Given the description of an element on the screen output the (x, y) to click on. 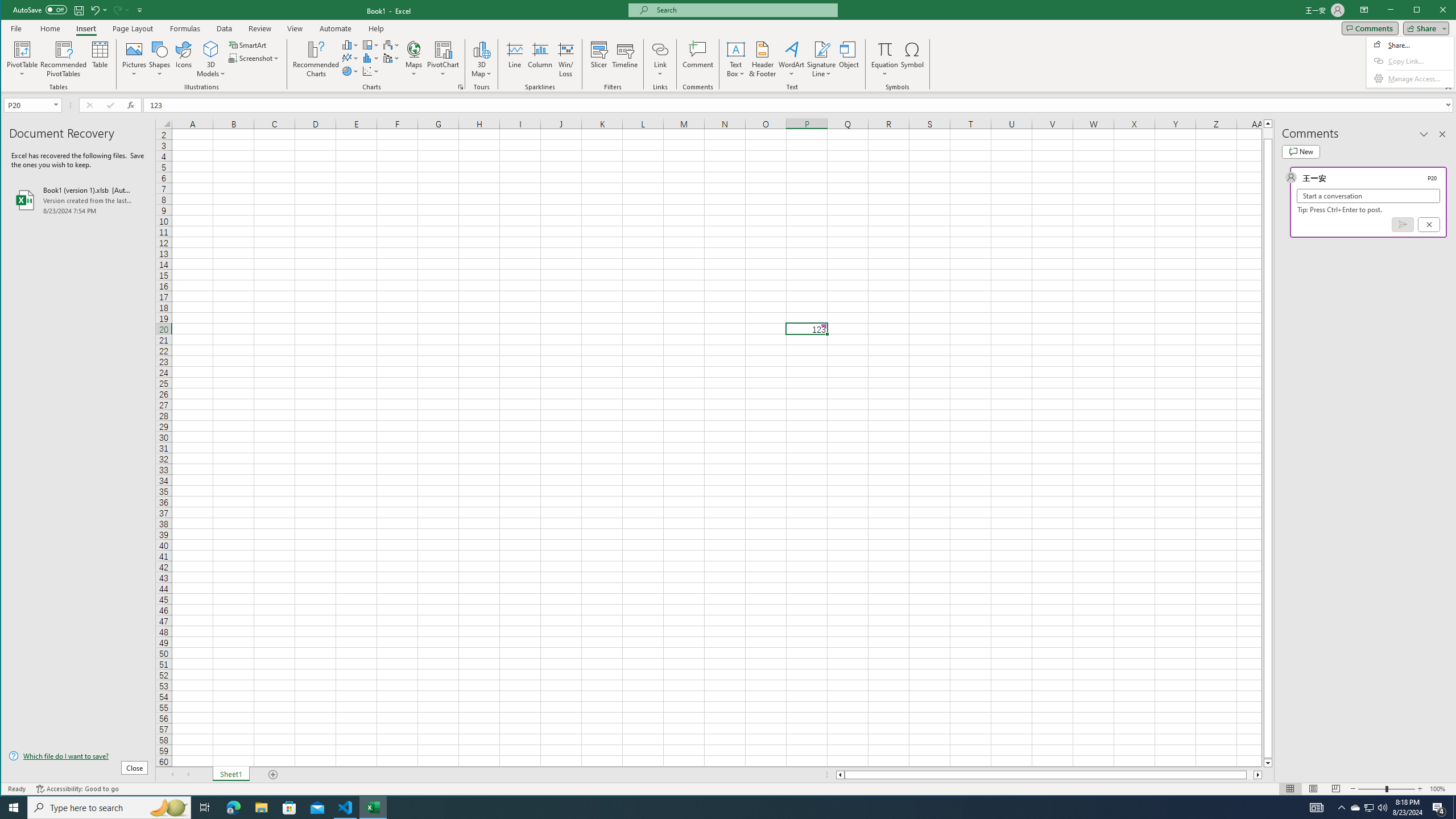
PivotChart (443, 48)
Post comment (Ctrl + Enter) (1402, 224)
Equation (884, 48)
Insert Line or Area Chart (350, 57)
Line (514, 59)
User Promoted Notification Area (1368, 807)
